Given the description of an element on the screen output the (x, y) to click on. 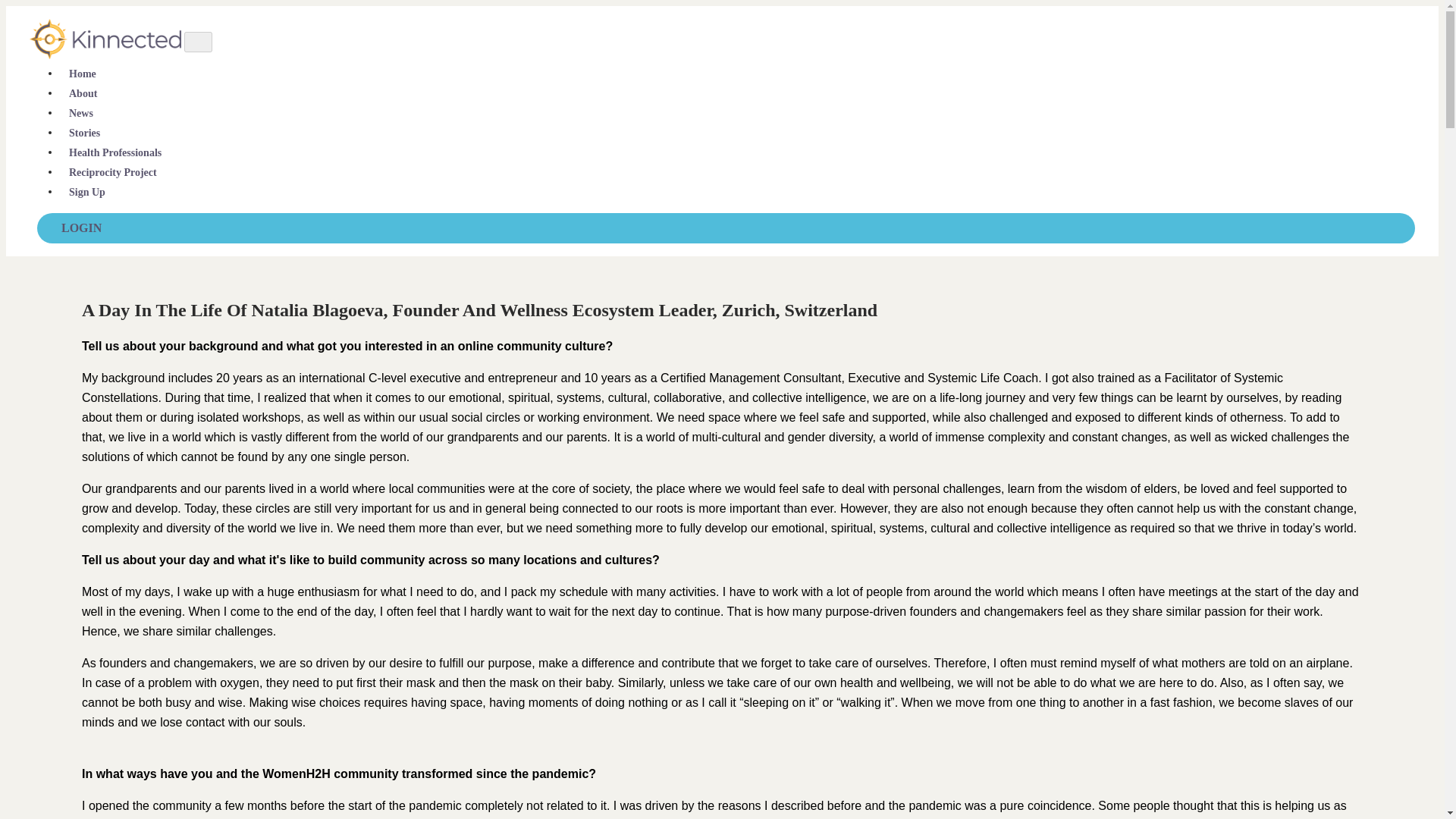
News (80, 113)
About (82, 94)
Reciprocity Project (112, 172)
Health Professionals (114, 152)
Stories (84, 133)
Home (82, 74)
LOGIN (726, 227)
Sign Up (86, 192)
